Given the description of an element on the screen output the (x, y) to click on. 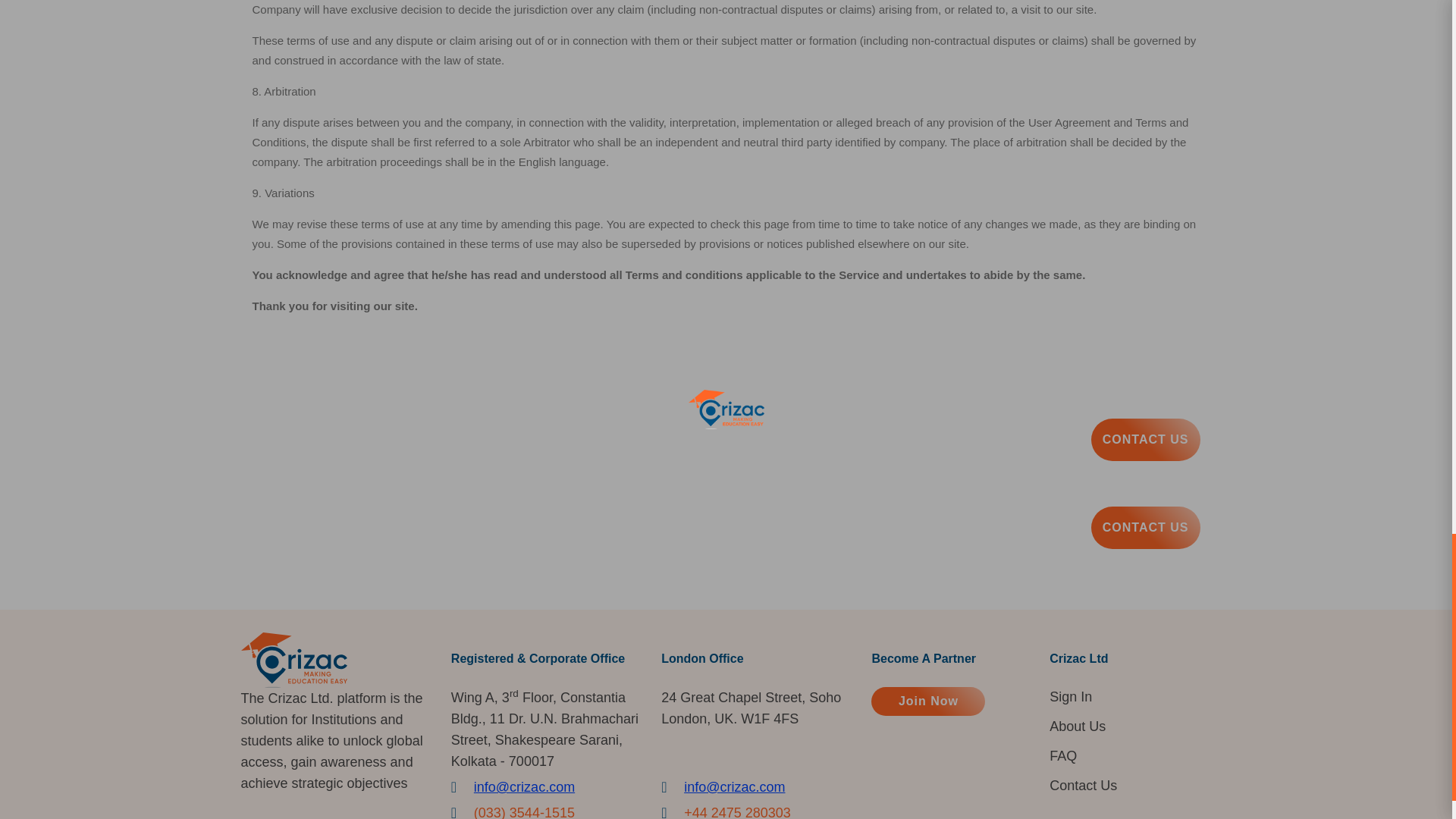
Contact Us (1082, 785)
CONTACT US (1144, 527)
FAQ (1063, 755)
Join Now (927, 701)
CONTACT US (1144, 439)
Sign In (1070, 696)
About Us (1077, 726)
